Given the description of an element on the screen output the (x, y) to click on. 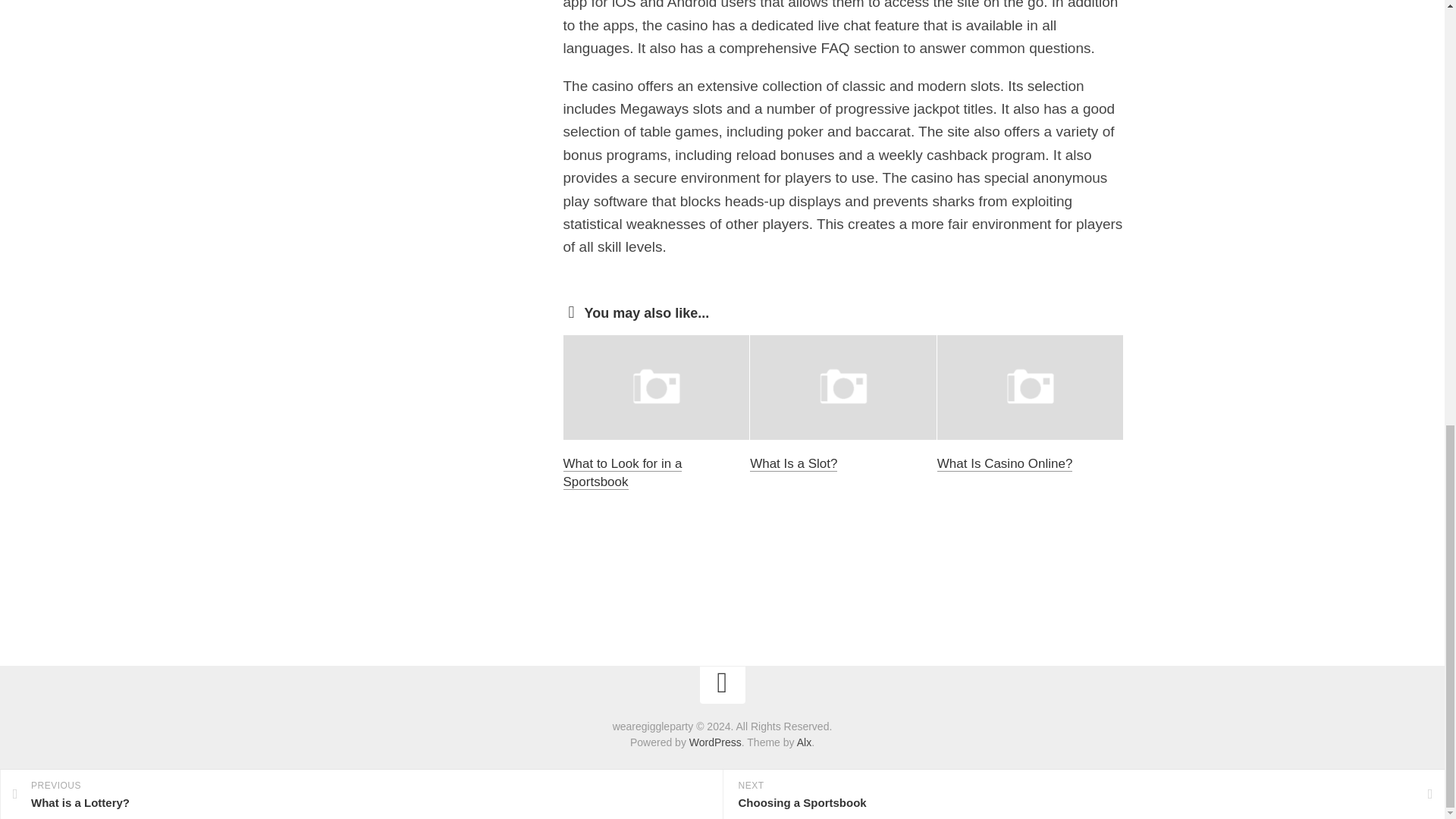
What Is Casino Online? (1005, 463)
What Is a Slot? (793, 463)
What to Look for in a Sportsbook (621, 472)
WordPress (714, 742)
Alx (803, 742)
